Given the description of an element on the screen output the (x, y) to click on. 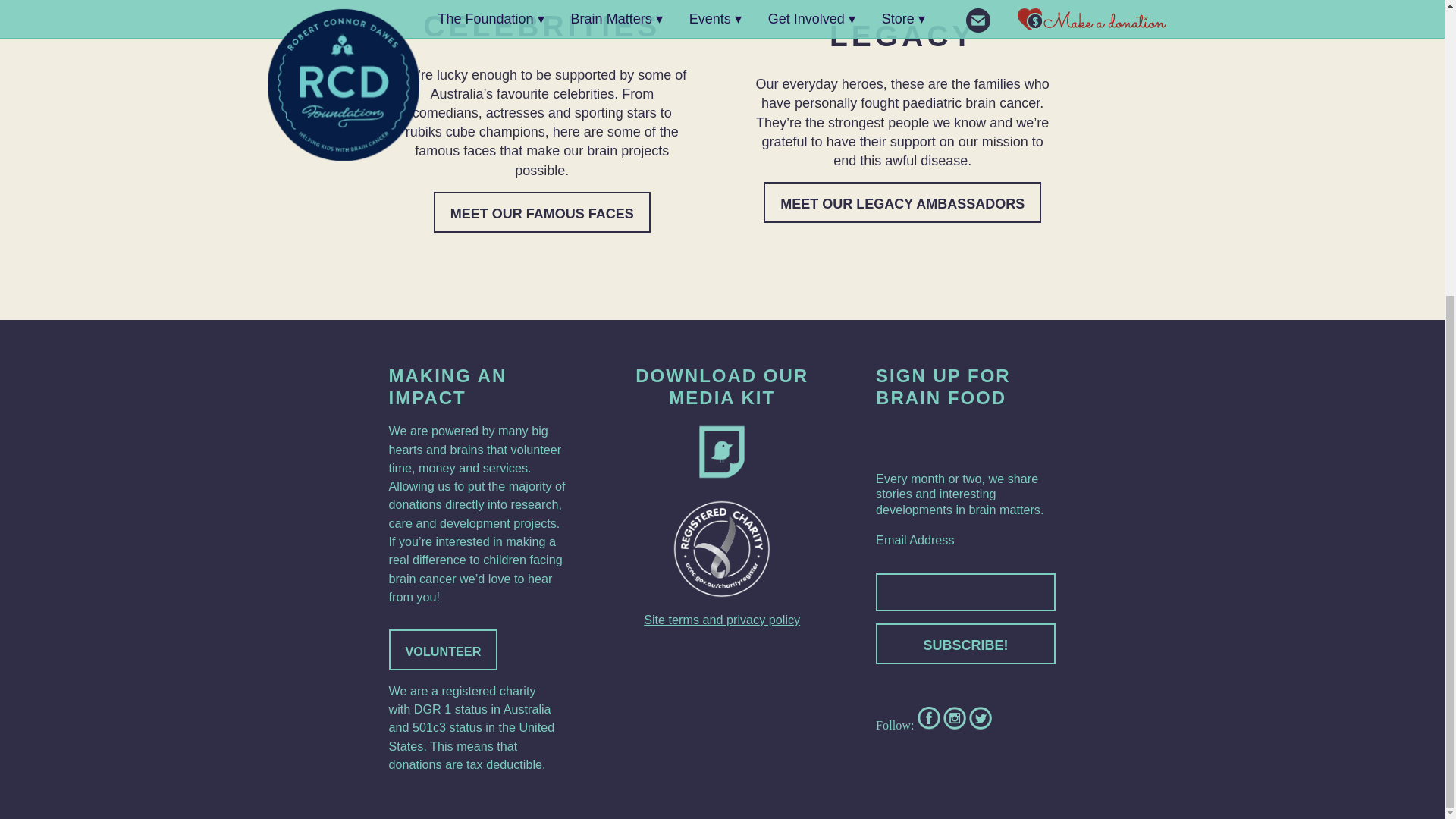
MEET OUR FAMOUS FACES (541, 211)
MEET OUR LEGACY AMBASSADORS (901, 201)
Subscribe! (965, 643)
